Given the description of an element on the screen output the (x, y) to click on. 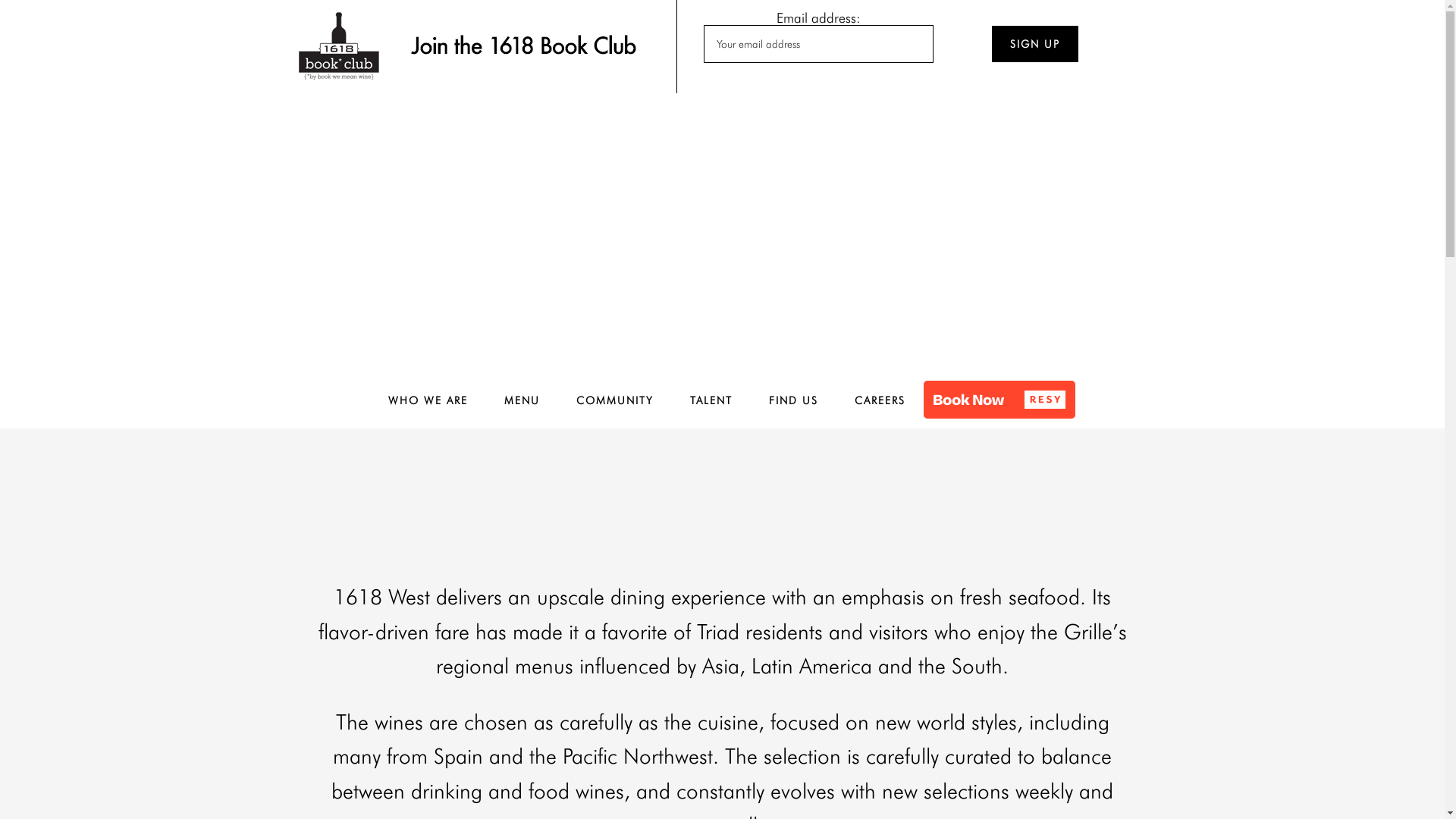
WHO WE ARE Element type: text (428, 400)
Sign up Element type: text (1034, 43)
MENU Element type: text (521, 400)
CAREERS Element type: text (878, 400)
TALENT Element type: text (710, 400)
FIND US Element type: text (793, 400)
1618 WEST Element type: text (722, 229)
COMMUNITY Element type: text (614, 400)
